Given the description of an element on the screen output the (x, y) to click on. 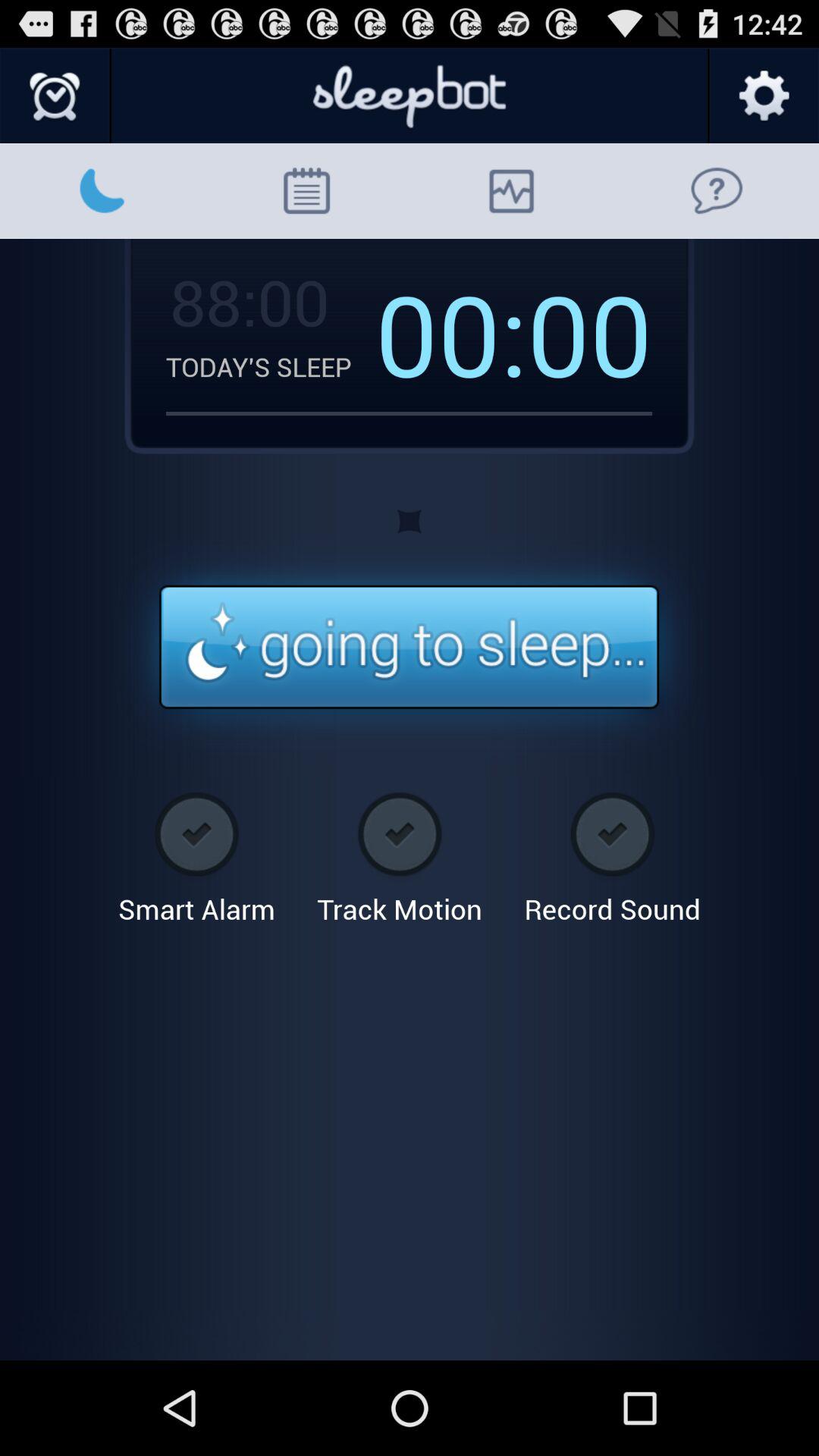
press item next to 00 item (451, 332)
